Given the description of an element on the screen output the (x, y) to click on. 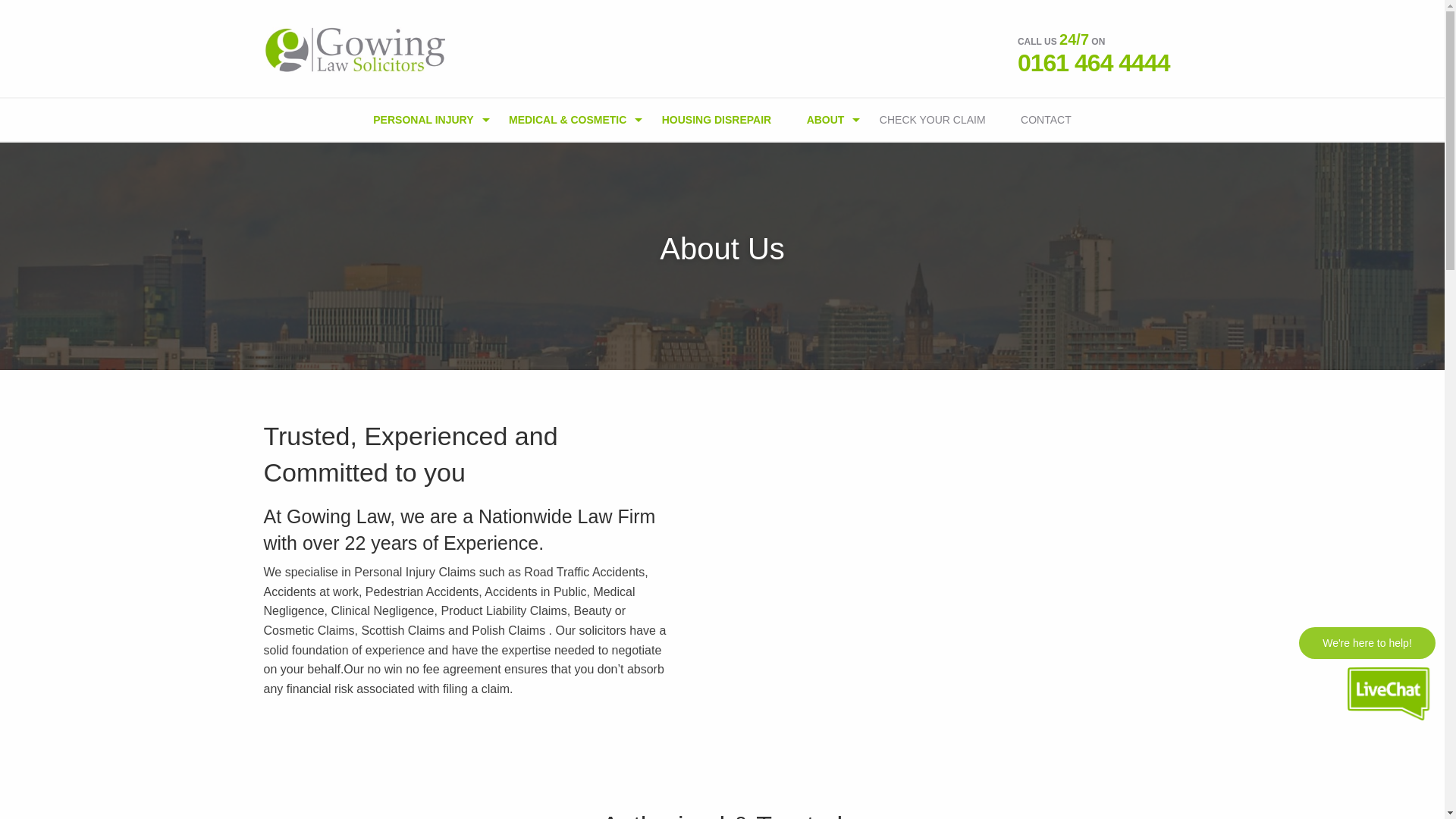
PERSONAL INJURY (422, 119)
